Given the description of an element on the screen output the (x, y) to click on. 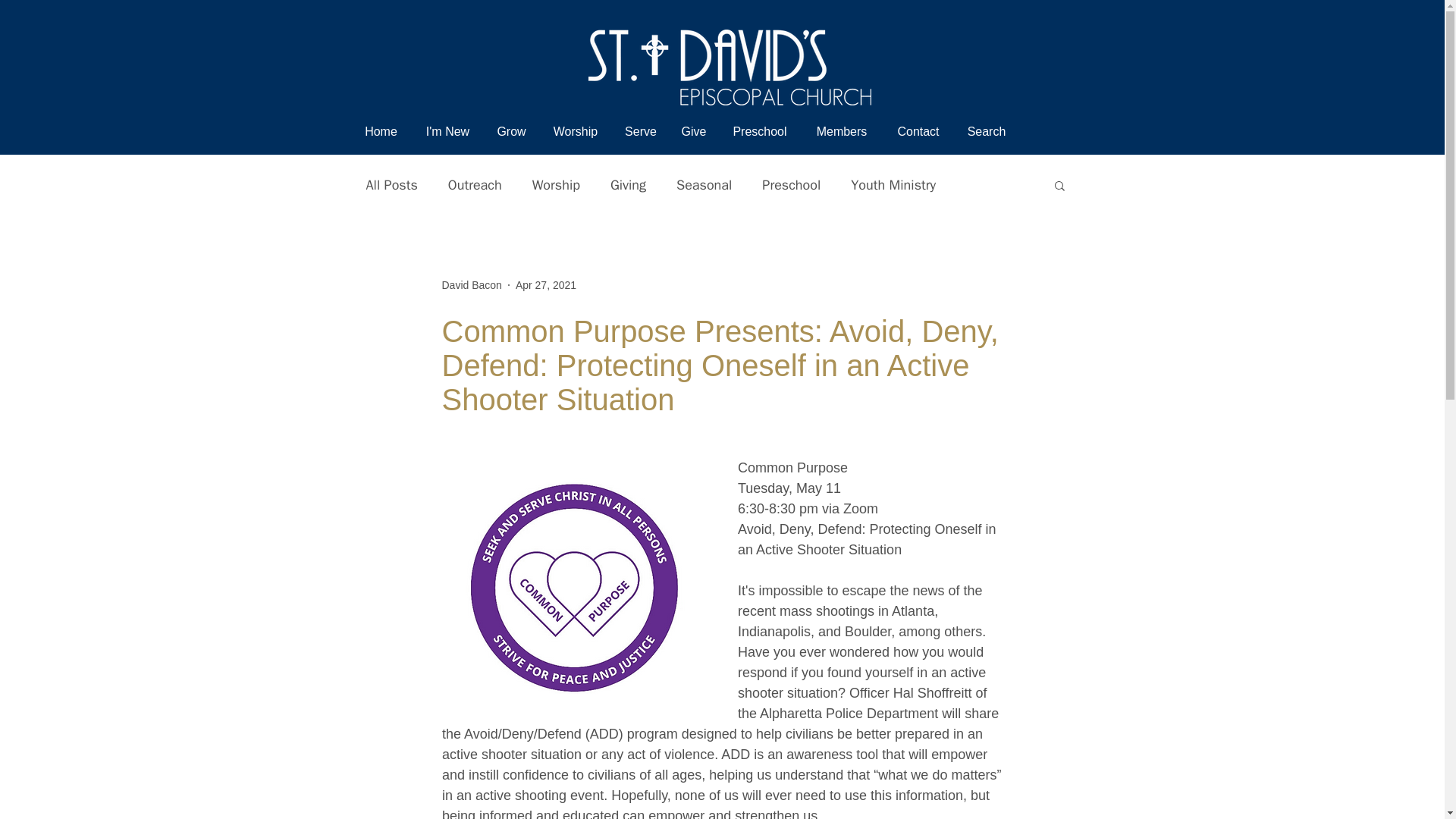
Serve (640, 131)
Give (692, 131)
Apr 27, 2021 (545, 285)
David Bacon (470, 285)
Home (380, 131)
Contact (918, 131)
Grow (510, 131)
Preschool (760, 131)
Worship (574, 131)
I'm New (446, 131)
Members (841, 131)
